Given the description of an element on the screen output the (x, y) to click on. 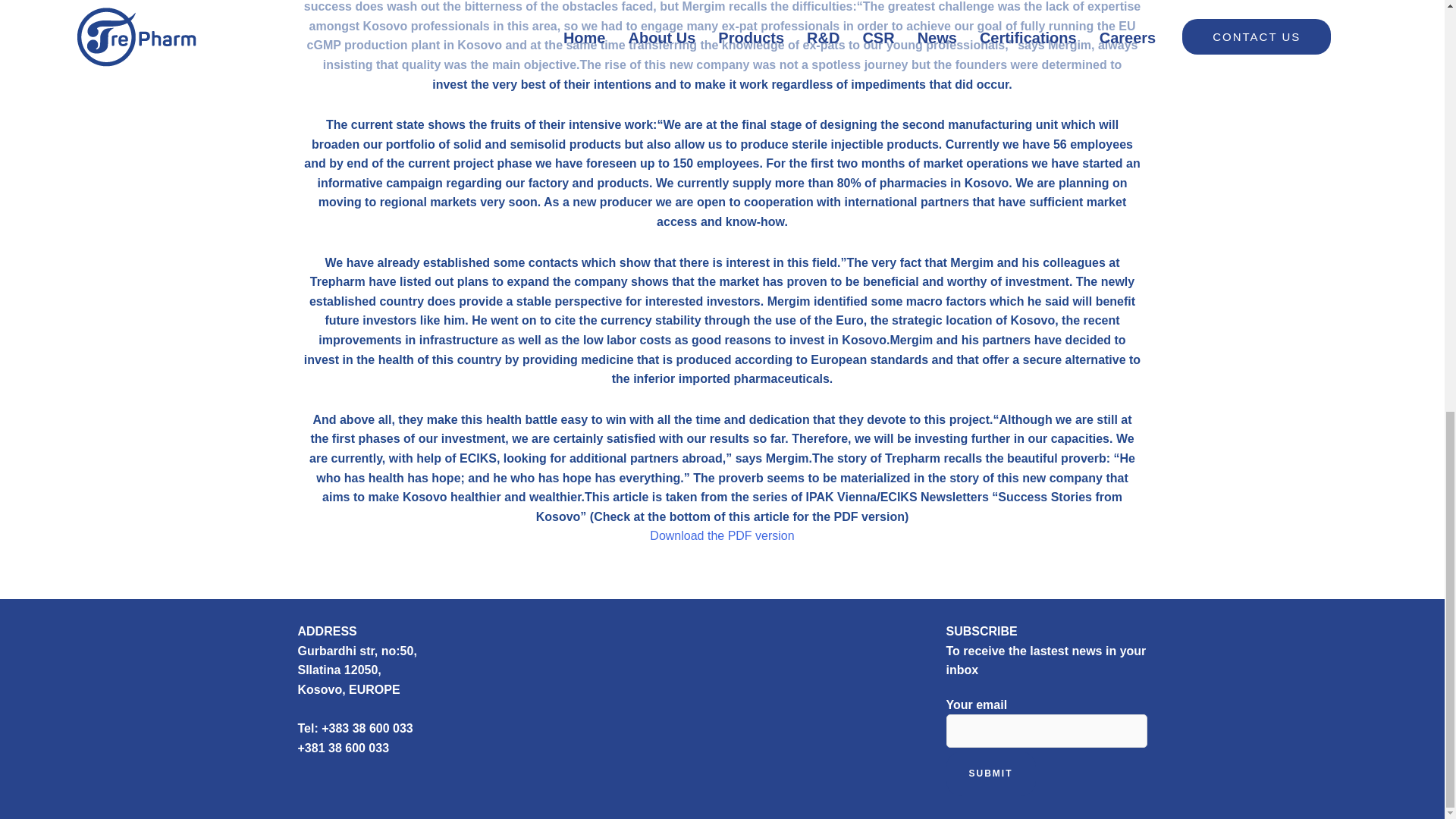
Submit (990, 773)
Download the PDF version (721, 535)
Submit (990, 773)
